Given the description of an element on the screen output the (x, y) to click on. 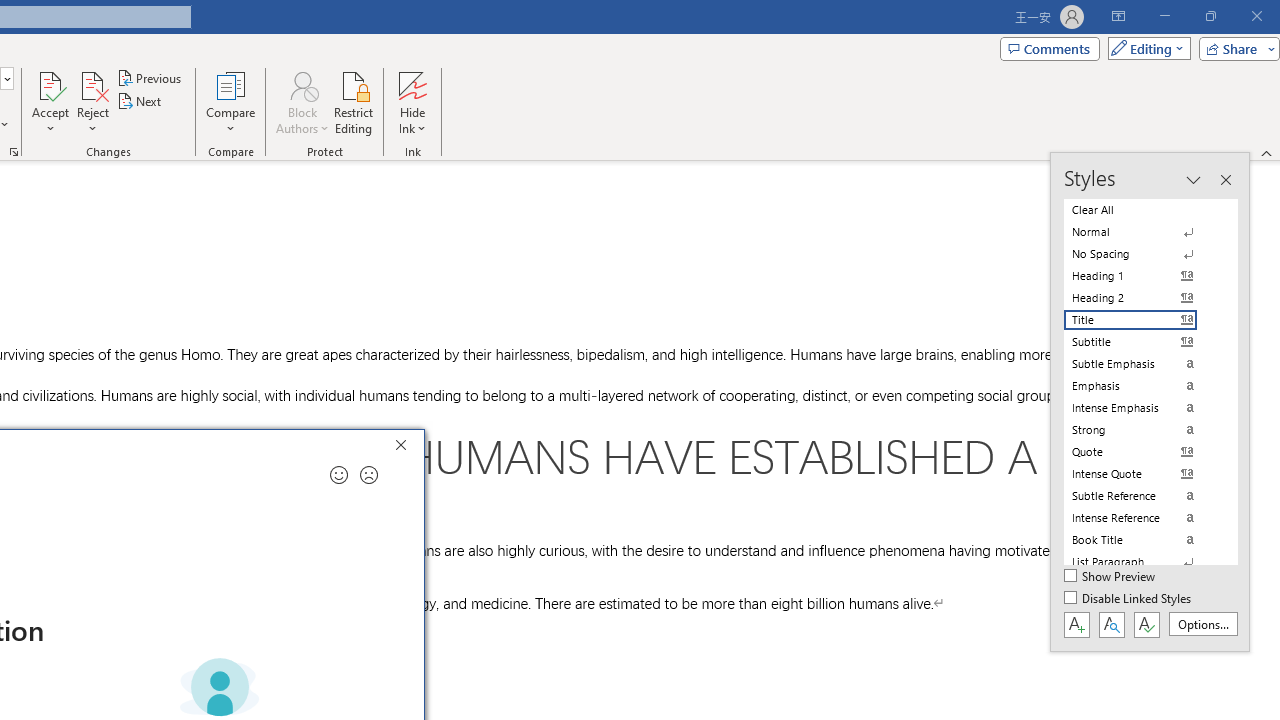
Previous (150, 78)
Hide Ink (412, 102)
Clear All (1142, 209)
Quote (1142, 451)
Block Authors (302, 84)
Class: NetUIButton (1146, 624)
Compare (230, 102)
Subtle Reference (1142, 495)
No Spacing (1142, 253)
Intense Emphasis (1142, 407)
